Given the description of an element on the screen output the (x, y) to click on. 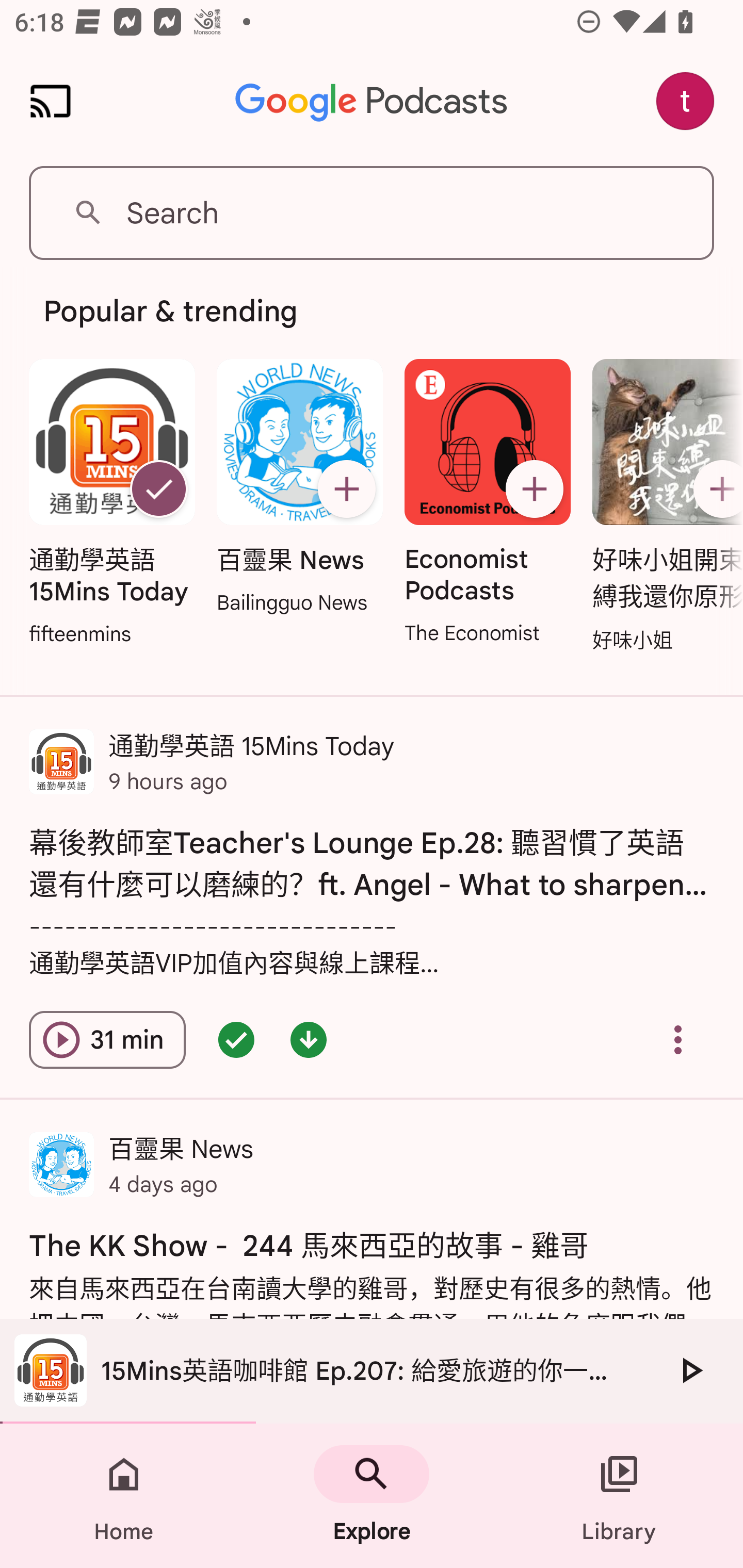
Cast. Disconnected (50, 101)
Search (371, 212)
百靈果 News Subscribe 百靈果 News Bailingguo News (299, 488)
好味小姐開束縛我還你原形 Subscribe 好味小姐開束縛我還你原形 好味小姐 (662, 507)
Unsubscribe (158, 489)
Subscribe (346, 489)
Subscribe (534, 489)
Subscribe (714, 489)
Episode queued - double tap for options (235, 1040)
Episode downloaded - double tap for options (308, 1040)
Overflow menu (677, 1040)
Play (690, 1370)
Home (123, 1495)
Library (619, 1495)
